Given the description of an element on the screen output the (x, y) to click on. 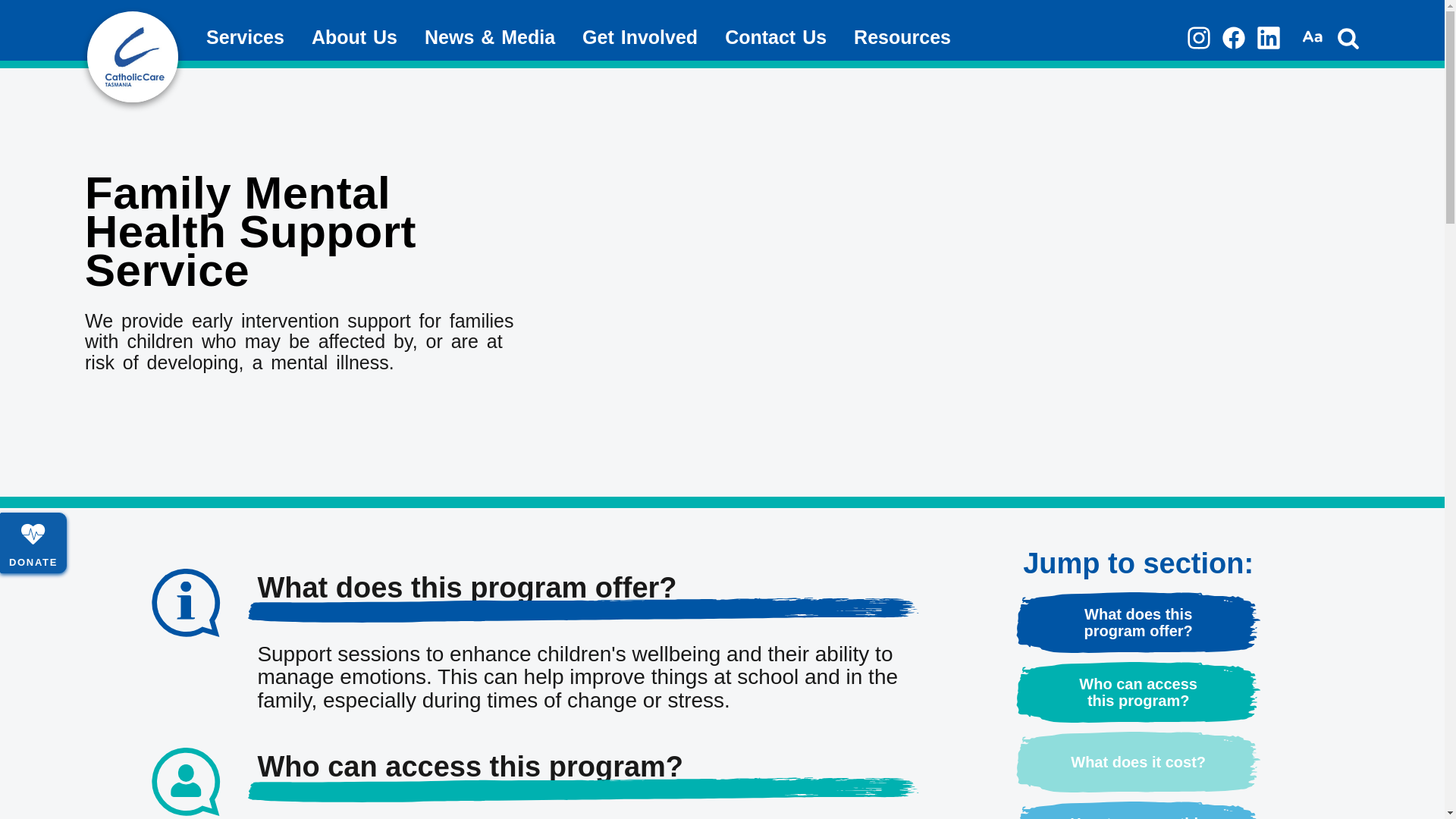
What does this program offer? Element type: text (1138, 622)
Contact Us Element type: text (775, 37)
Resources Element type: text (902, 37)
DONATE Element type: text (33, 542)
Who can access this program? Element type: text (1138, 692)
About Us Element type: text (354, 37)
News & Media Element type: text (489, 37)
Get Involved Element type: text (639, 37)
Services Element type: text (245, 37)
What does it cost? Element type: text (1138, 761)
